Given the description of an element on the screen output the (x, y) to click on. 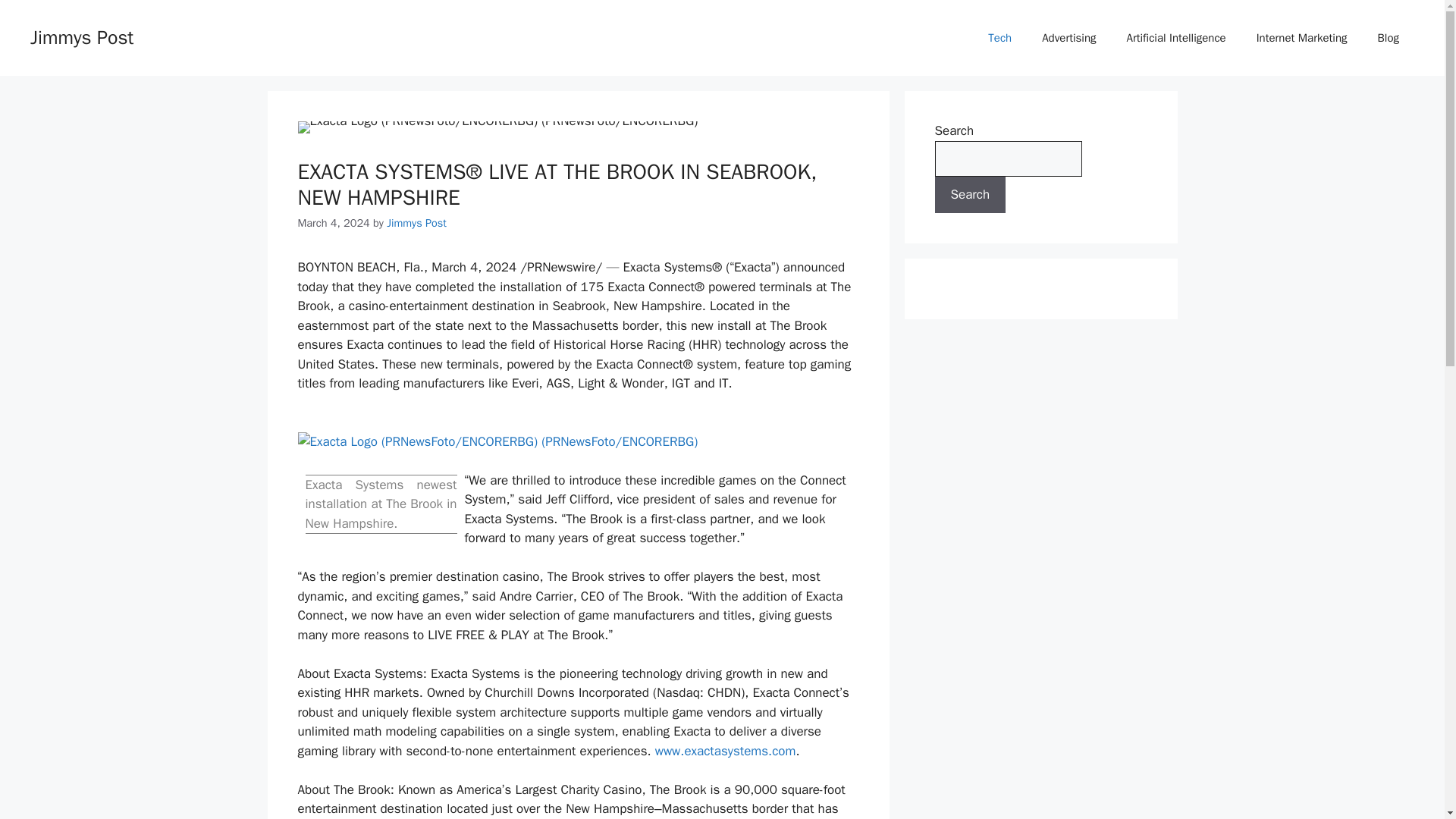
Artificial Intelligence (1176, 37)
Search (970, 194)
Advertising (1068, 37)
Blog (1387, 37)
Jimmys Post (81, 37)
Internet Marketing (1301, 37)
www.exactasystems.com (725, 750)
Jimmys Post (416, 223)
View all posts by Jimmys Post (416, 223)
Tech (999, 37)
